Given the description of an element on the screen output the (x, y) to click on. 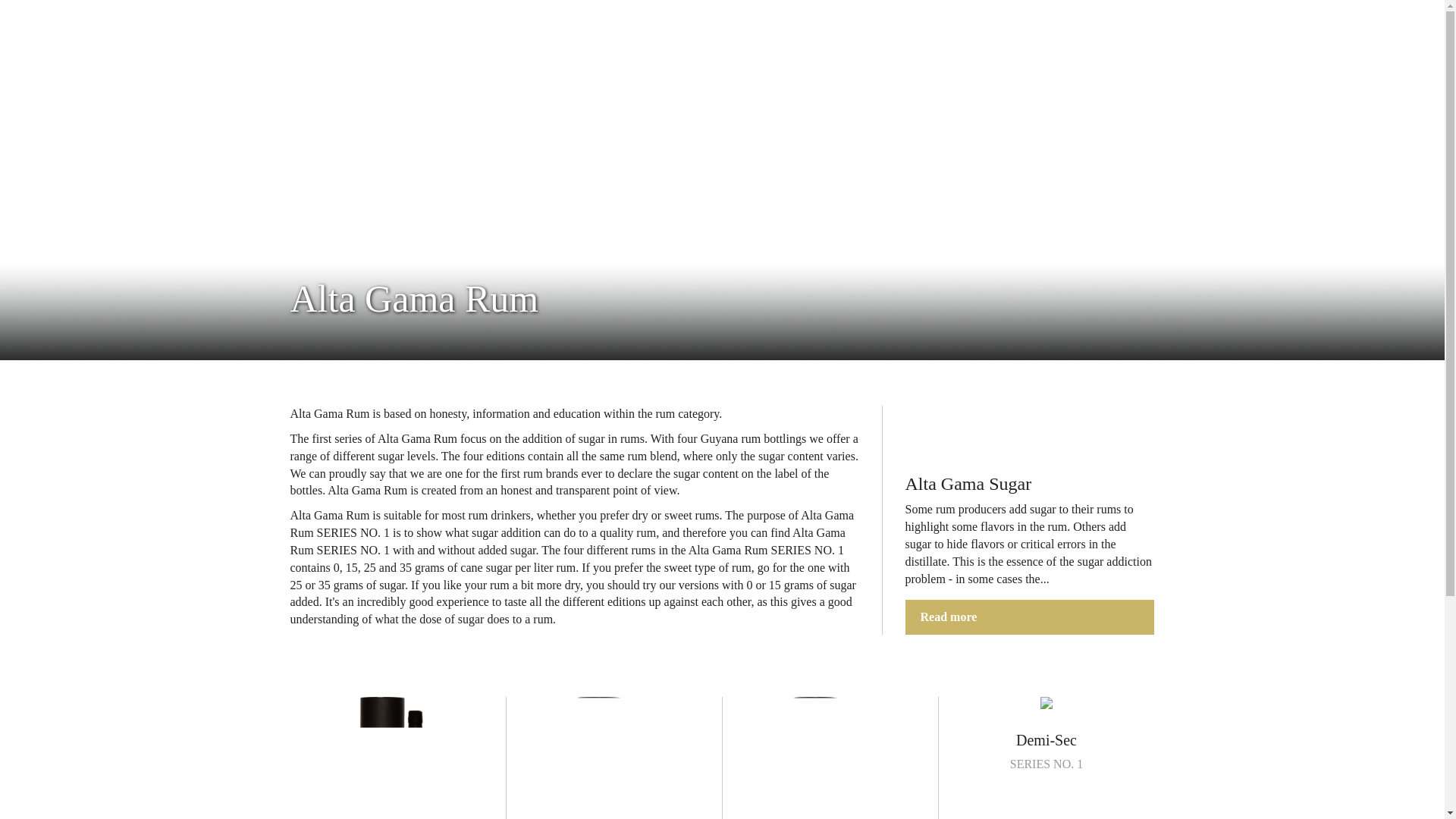
MEDIA (981, 74)
Read more (1029, 617)
ALTA GAMA (1046, 734)
CONTACT (351, 82)
RUMS (1092, 74)
HERITAGE (397, 757)
DISTRIBUTORS (462, 74)
